Given the description of an element on the screen output the (x, y) to click on. 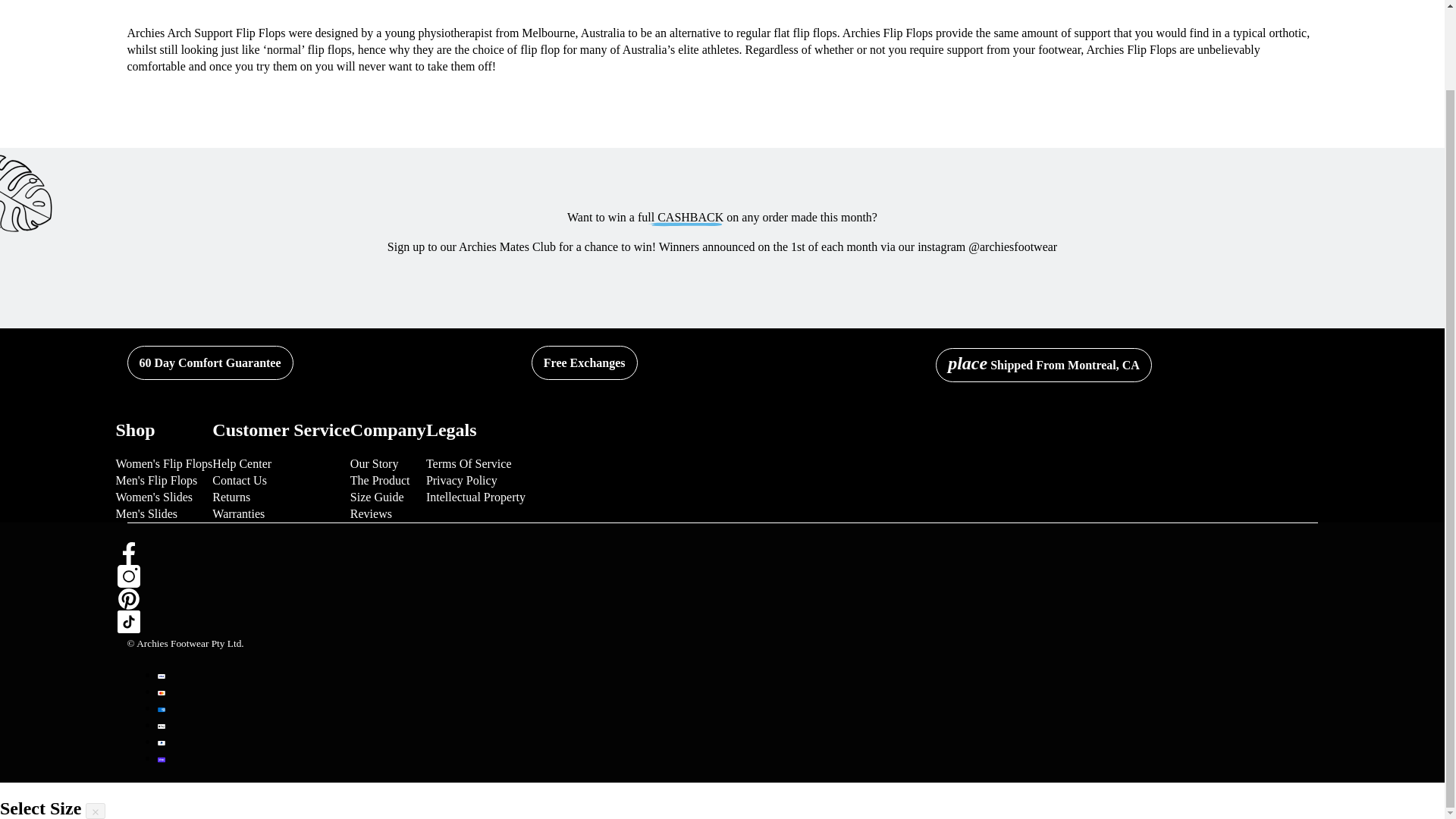
Men's Slides (146, 514)
60 Day Comfort Guarantee (211, 362)
Free Exchanges (584, 362)
Free Exchanges (584, 362)
Help Center (241, 463)
EXPLORE (518, 2)
Mastercard (161, 692)
Women's Flip Flops (163, 463)
place Shipped From Montreal, CA (1043, 365)
Women's Slides (153, 497)
